Given the description of an element on the screen output the (x, y) to click on. 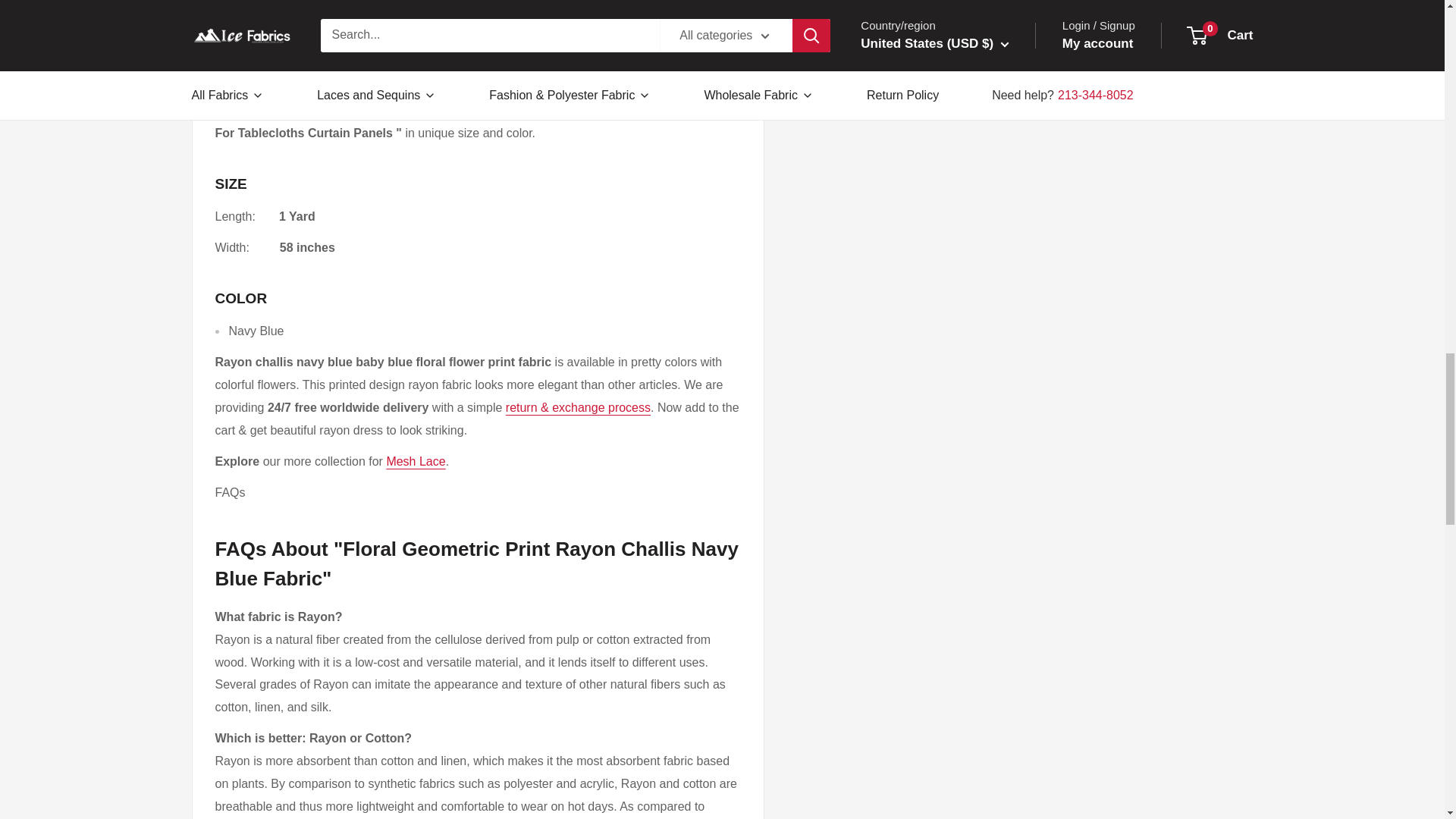
Refund Policy - IceFabrics (577, 407)
Mesh Lace - IceFabrics (415, 461)
IceFabrics.com (247, 110)
